Given the description of an element on the screen output the (x, y) to click on. 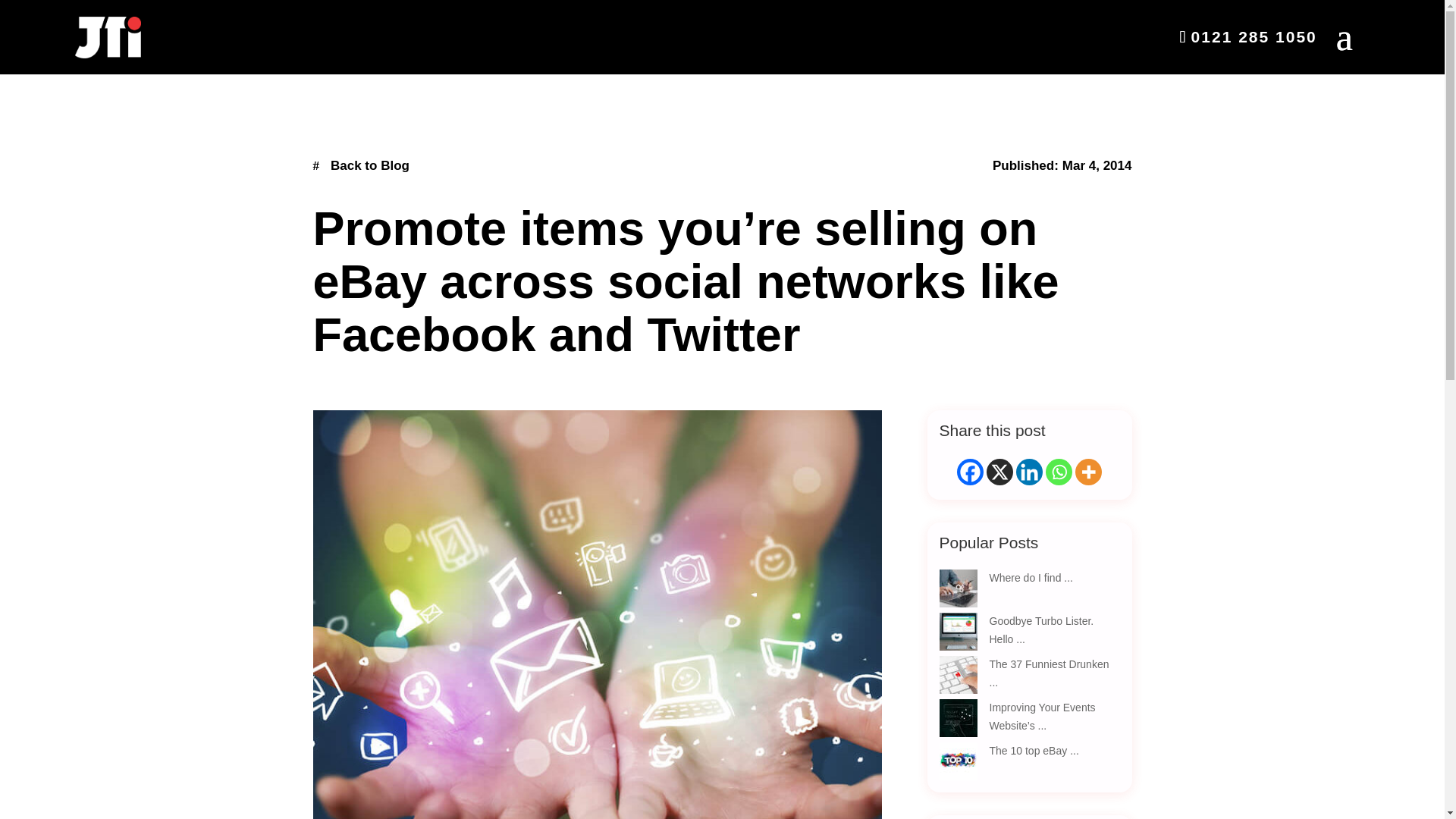
Where do I find MPN numbers for the products I sell? (1030, 577)
More (1088, 471)
The 10 top eBay experts on Twitter (1033, 750)
The 37 Funniest Drunken ... (1048, 673)
Goodbye Turbo Lister. Hello Ad-Lister ! (1040, 630)
Back to Blog (361, 165)
Goodbye Turbo Lister. Hello ... (1040, 630)
The 10 top eBay ... (1033, 750)
0121 285 1050 (1254, 36)
Whatsapp (1058, 471)
The 37 Funniest Drunken eBay Purchases (1048, 673)
Linkedin (1029, 471)
Where do I find ... (1030, 577)
X (1000, 471)
Facebook (970, 471)
